Given the description of an element on the screen output the (x, y) to click on. 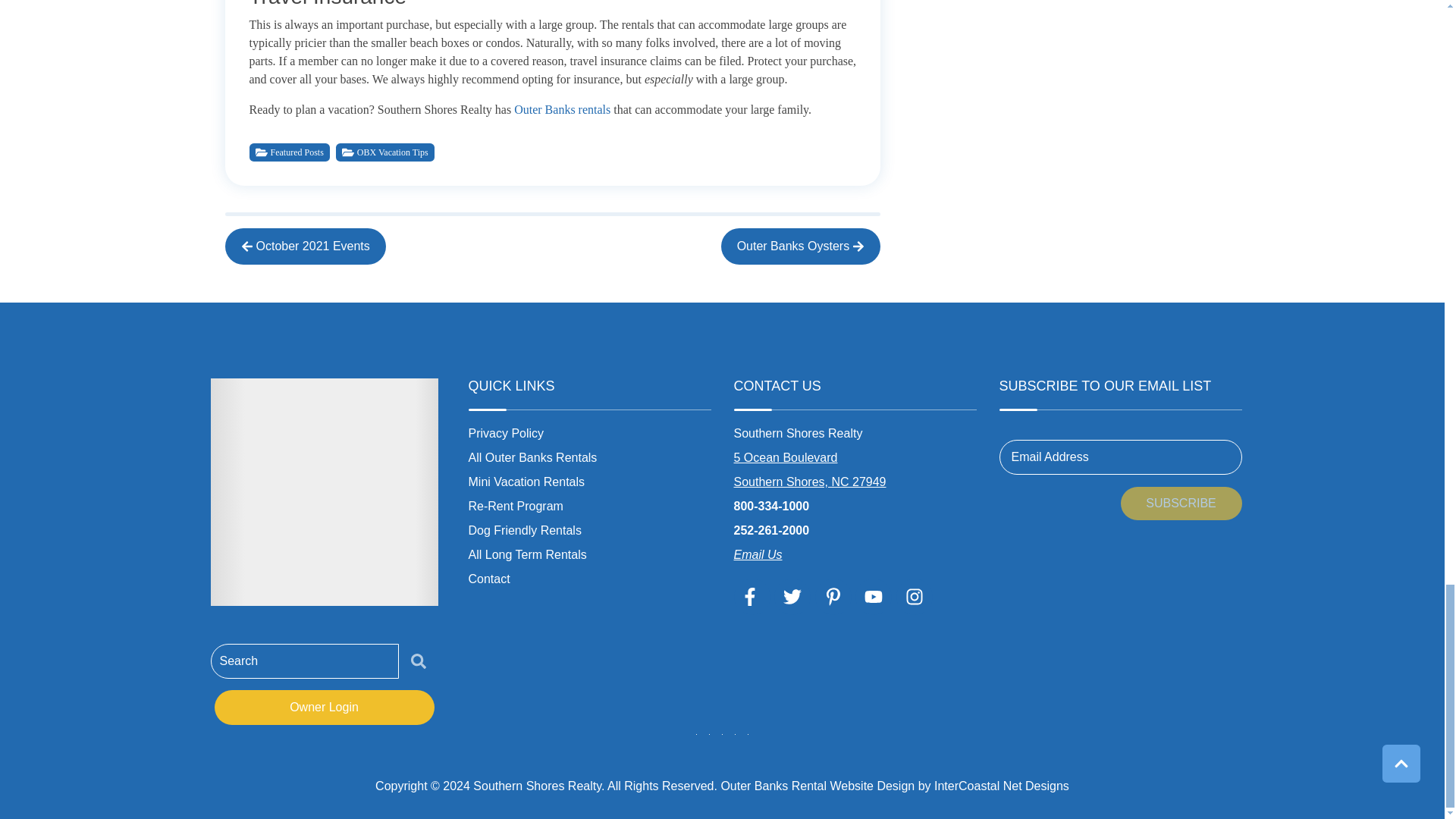
facebook (751, 596)
pinterest (833, 596)
twitter (792, 596)
youtube (873, 596)
instagram (914, 596)
